Given the description of an element on the screen output the (x, y) to click on. 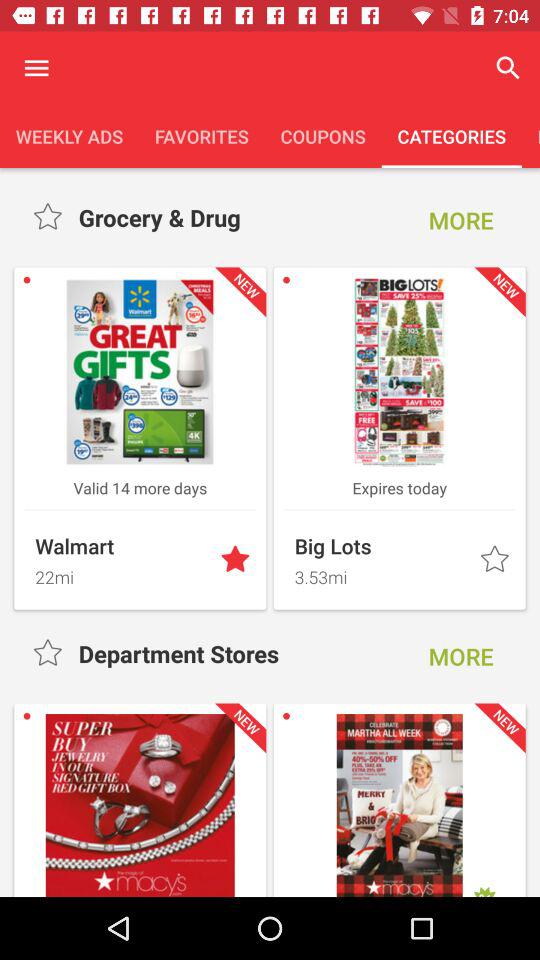
highlight it (496, 559)
